Given the description of an element on the screen output the (x, y) to click on. 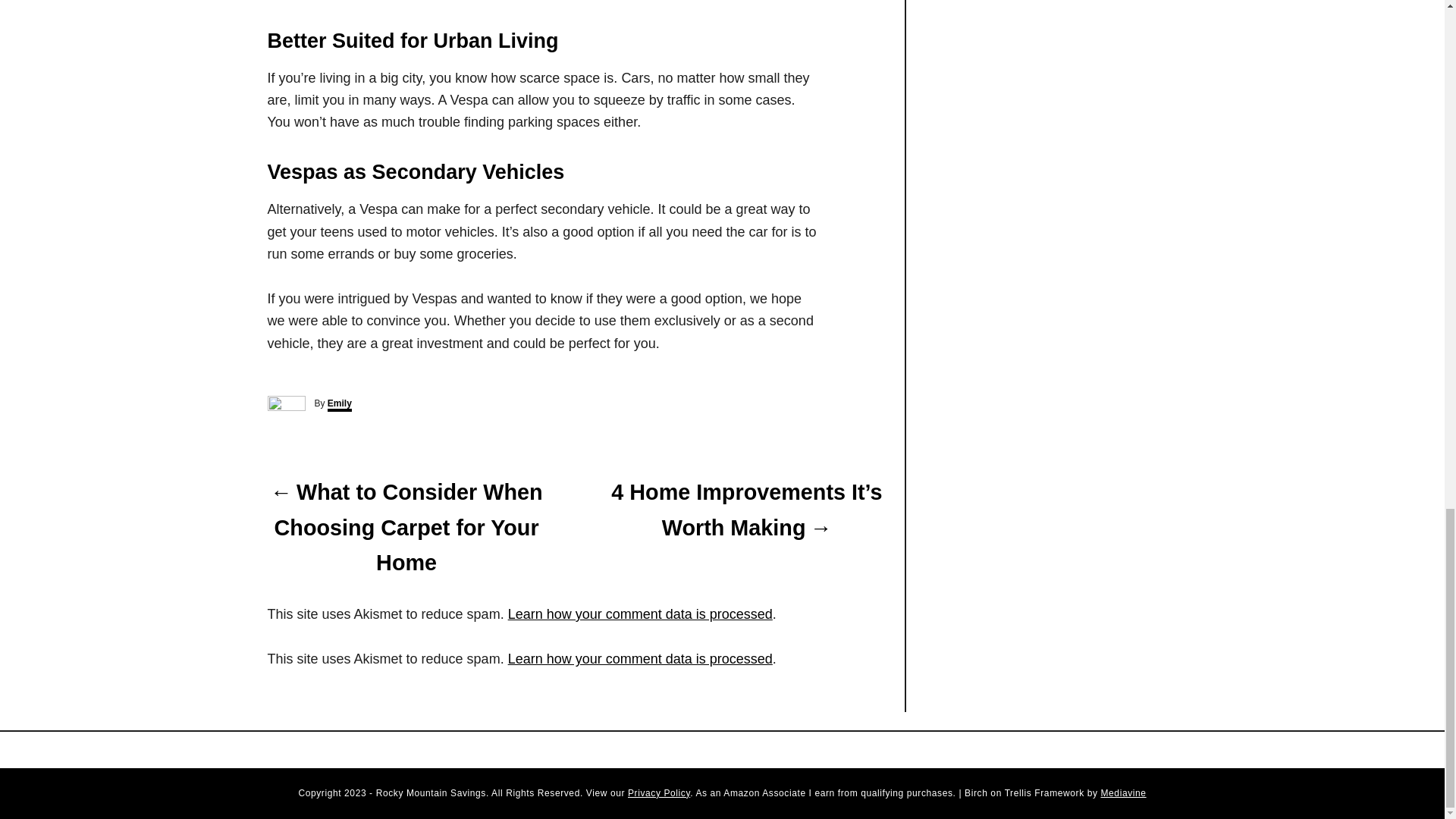
Mediavine (1122, 792)
Learn how your comment data is processed (640, 613)
Learn how your comment data is processed (640, 658)
What to Consider When Choosing Carpet for Your Home (405, 527)
Emily (339, 404)
Privacy Policy (658, 792)
